Given the description of an element on the screen output the (x, y) to click on. 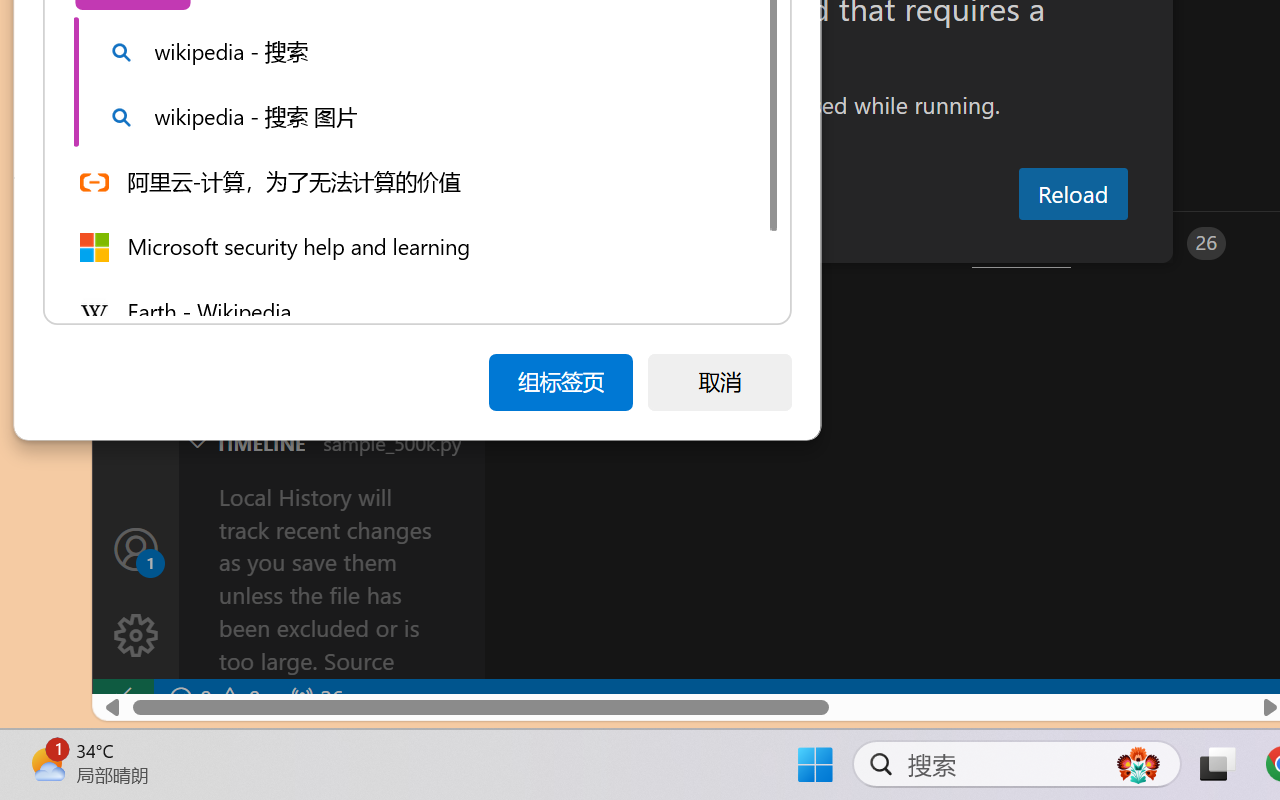
Timeline Section (331, 442)
Outline Section (331, 403)
Microsoft security help and learning (413, 245)
Ports - 26 forwarded ports (1165, 243)
Output (Ctrl+Shift+U) (696, 243)
